Given the description of an element on the screen output the (x, y) to click on. 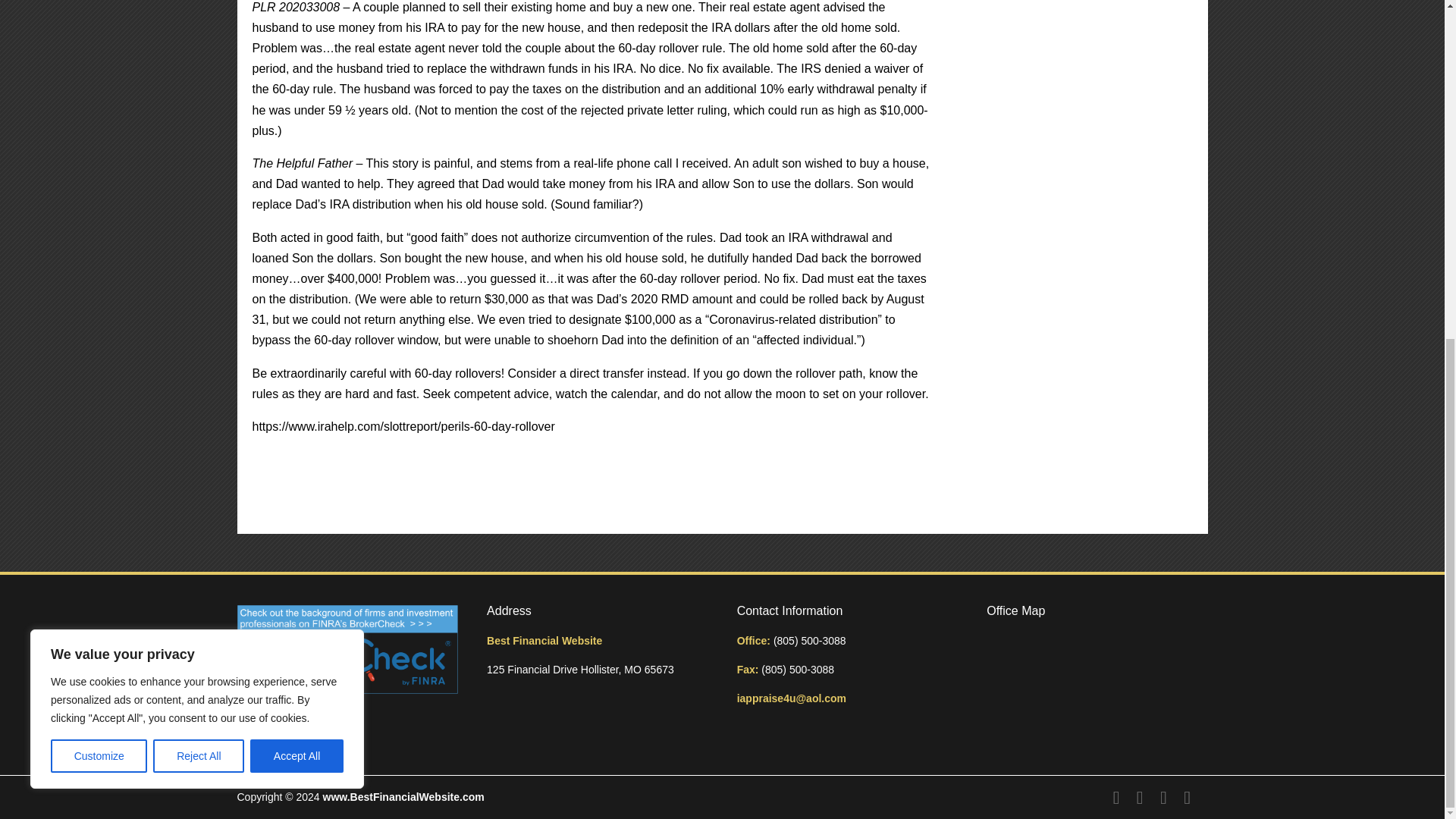
Accept All (296, 182)
Customize (98, 182)
Reject All (198, 182)
